Given the description of an element on the screen output the (x, y) to click on. 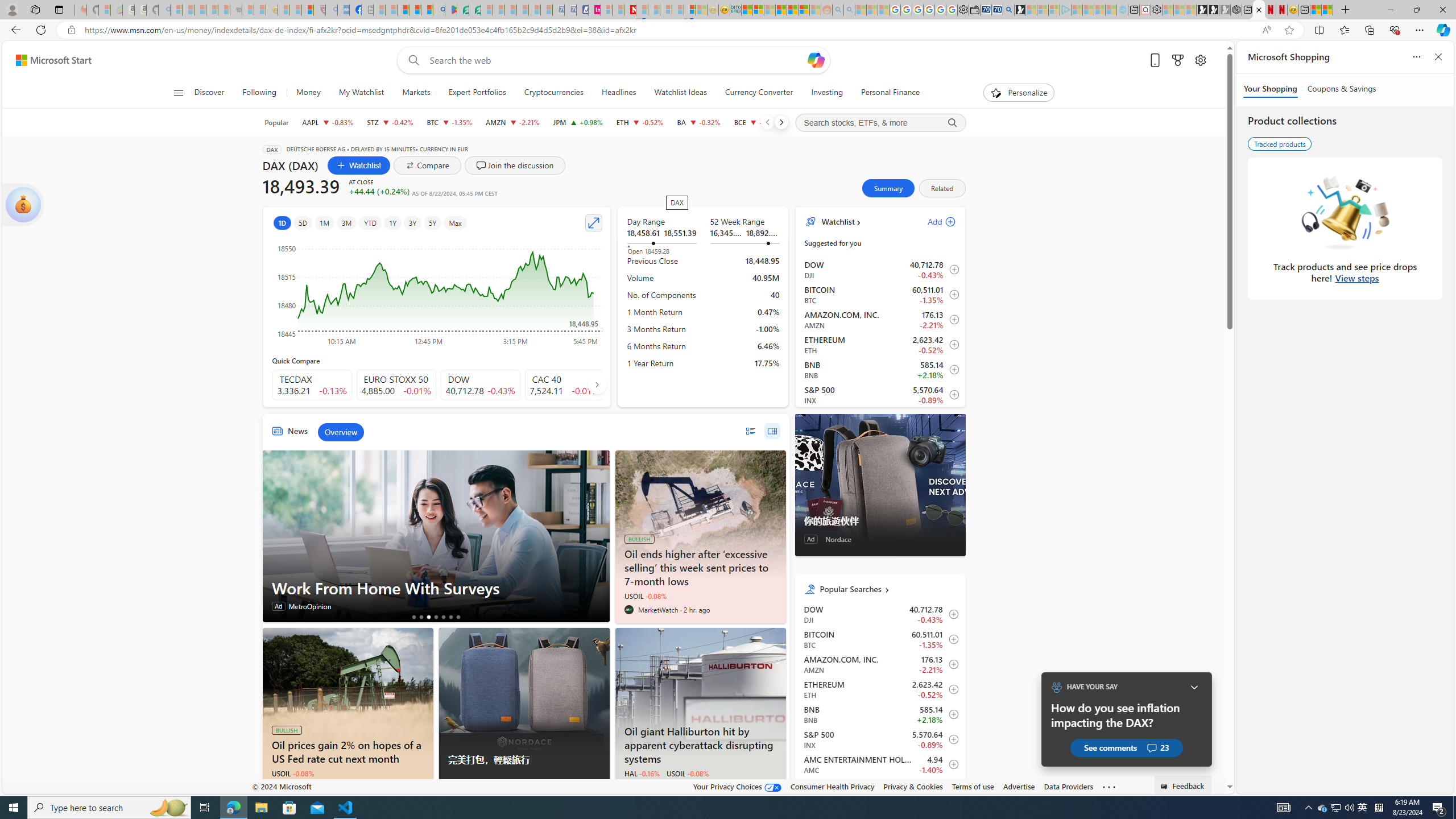
Expert Portfolios (781, 9)
AdChoices (600, 789)
Your Privacy Choices (737, 785)
JPM JPMORGAN CHASE & CO. increase 216.71 +2.11 +0.98% (578, 122)
